Given the description of an element on the screen output the (x, y) to click on. 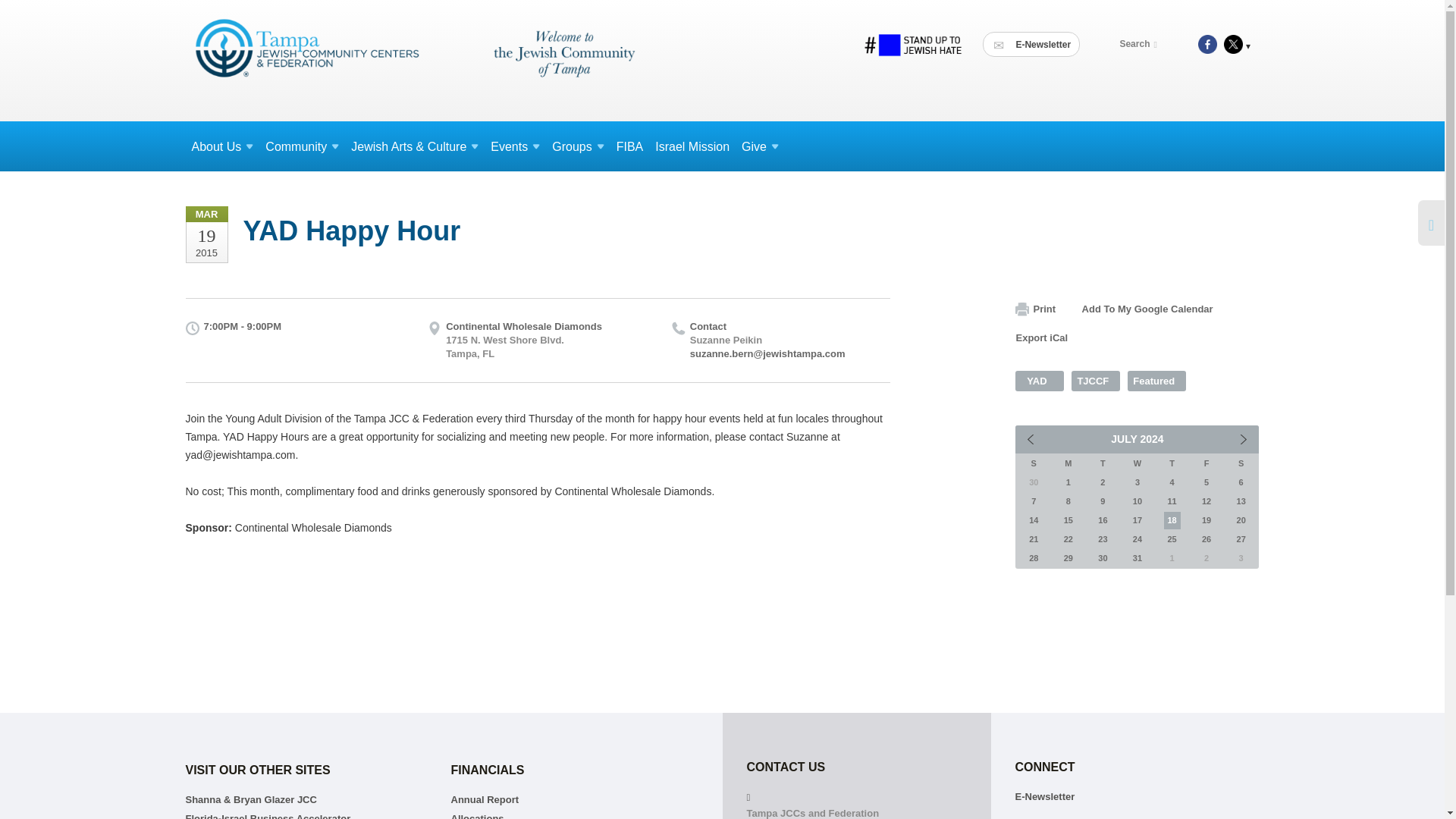
E-Newsletter (1031, 44)
Search (1140, 43)
About Us (221, 146)
Community (302, 146)
Tampa JCCs and Federation (412, 59)
